Given the description of an element on the screen output the (x, y) to click on. 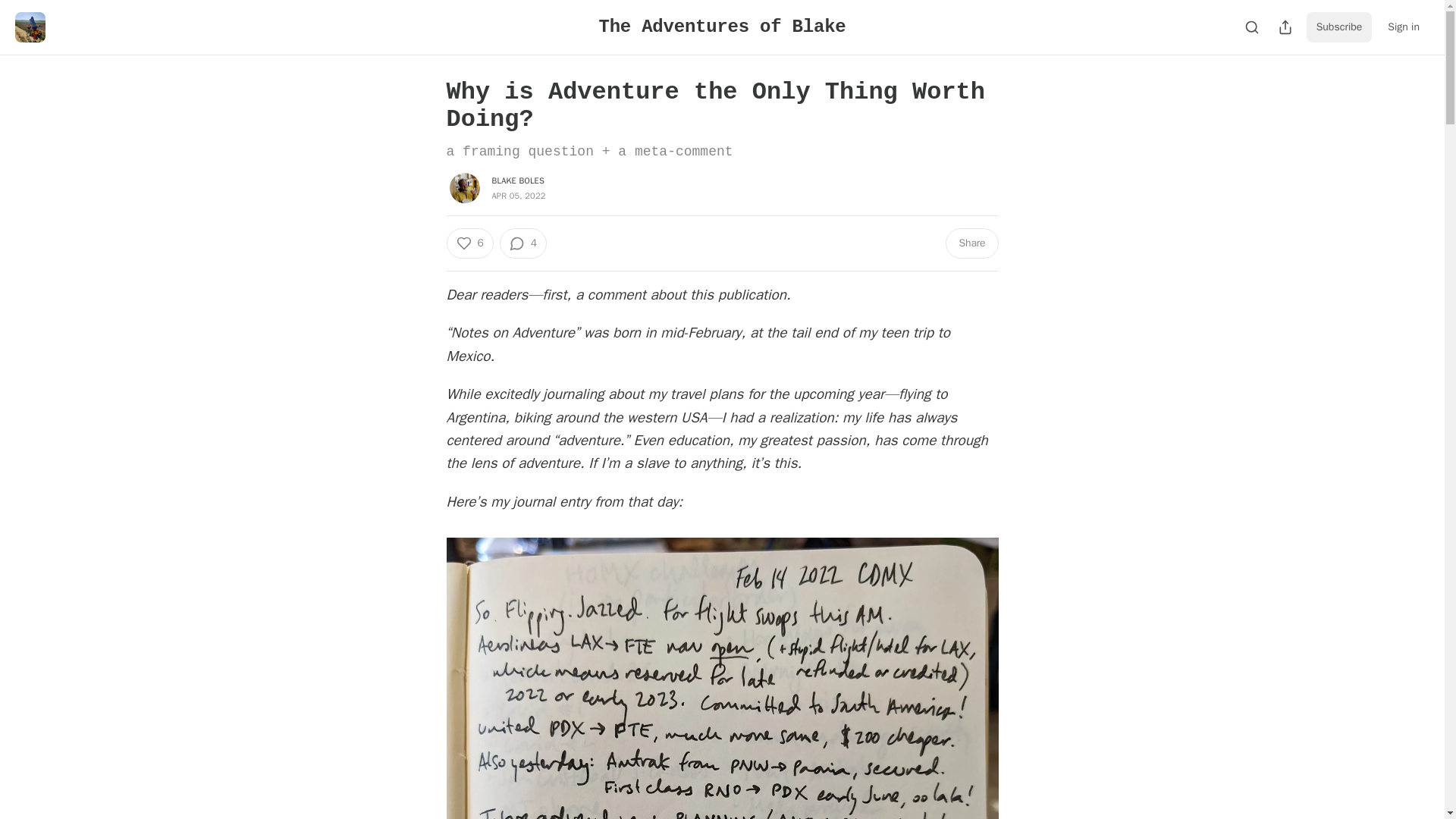
Subscribe (1339, 27)
Sign in (1403, 27)
Share (970, 243)
BLAKE BOLES (517, 180)
4 (523, 243)
The Adventures of Blake (721, 26)
6 (469, 243)
